Given the description of an element on the screen output the (x, y) to click on. 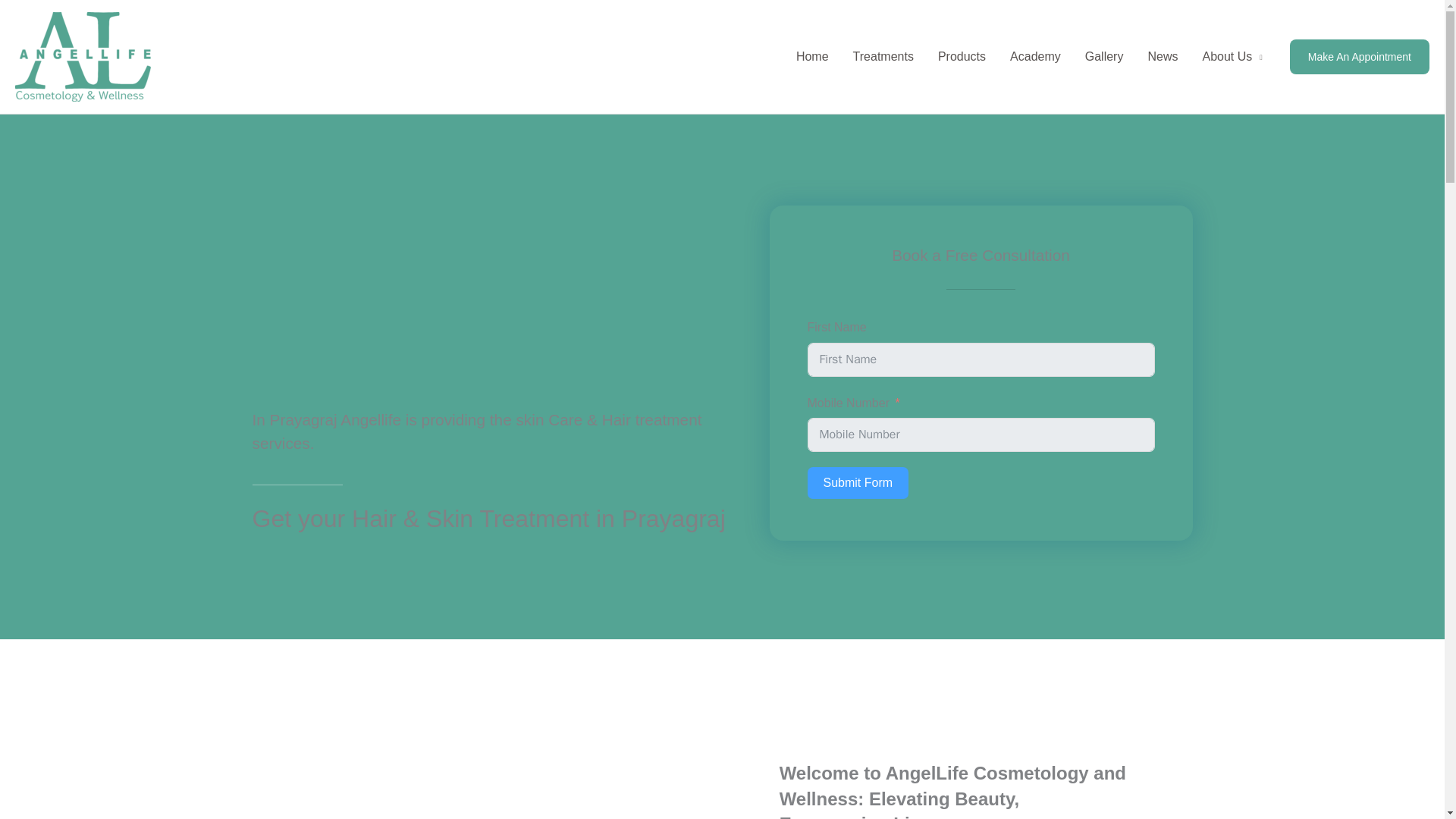
Products (961, 56)
Gallery (1104, 56)
Submit Form (857, 482)
Make An Appointment (1359, 56)
About Us (1231, 56)
Home (812, 56)
News (1162, 56)
Treatments (883, 56)
Academy (1035, 56)
